Given the description of an element on the screen output the (x, y) to click on. 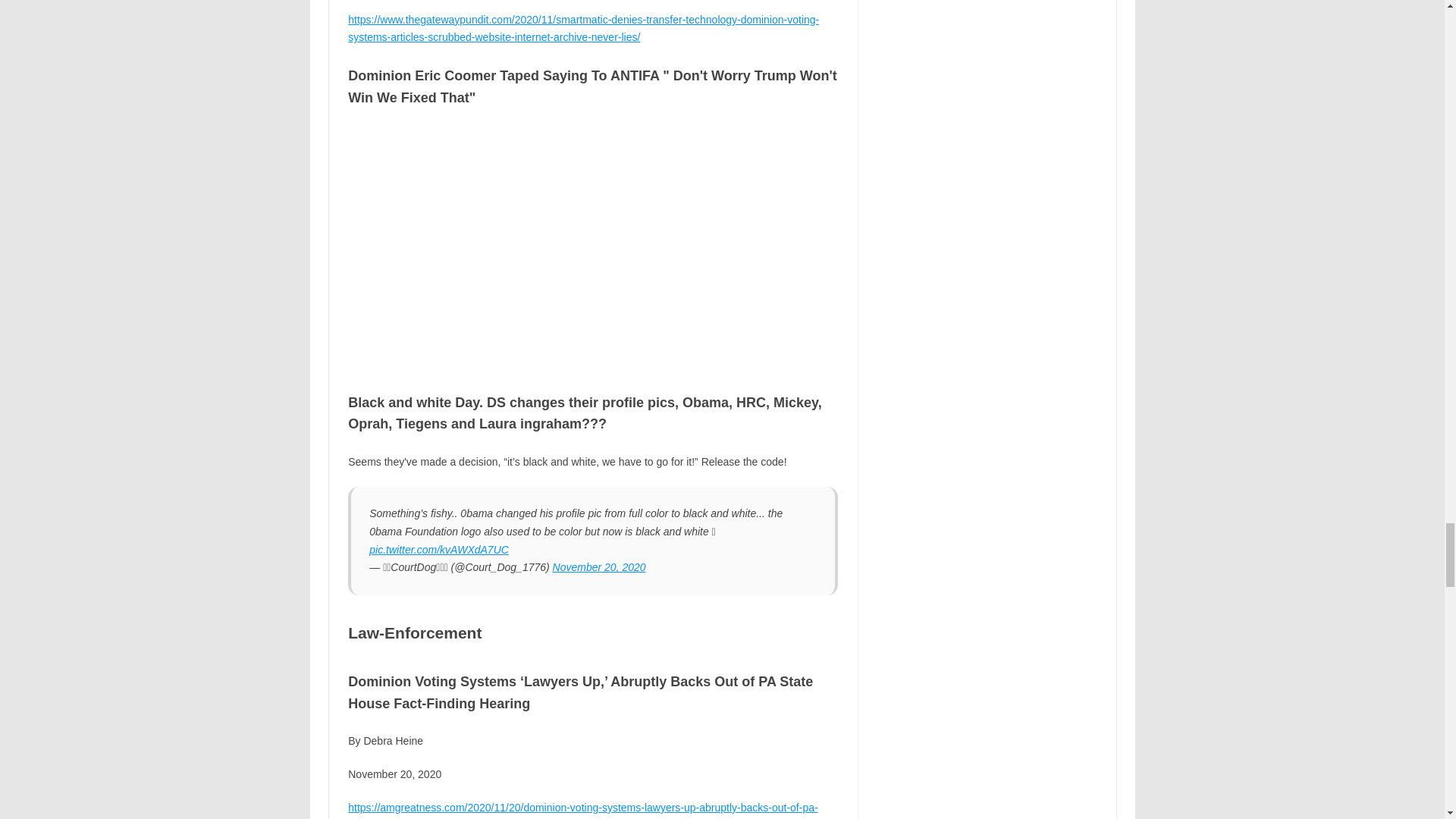
November 20, 2020 (599, 567)
